Given the description of an element on the screen output the (x, y) to click on. 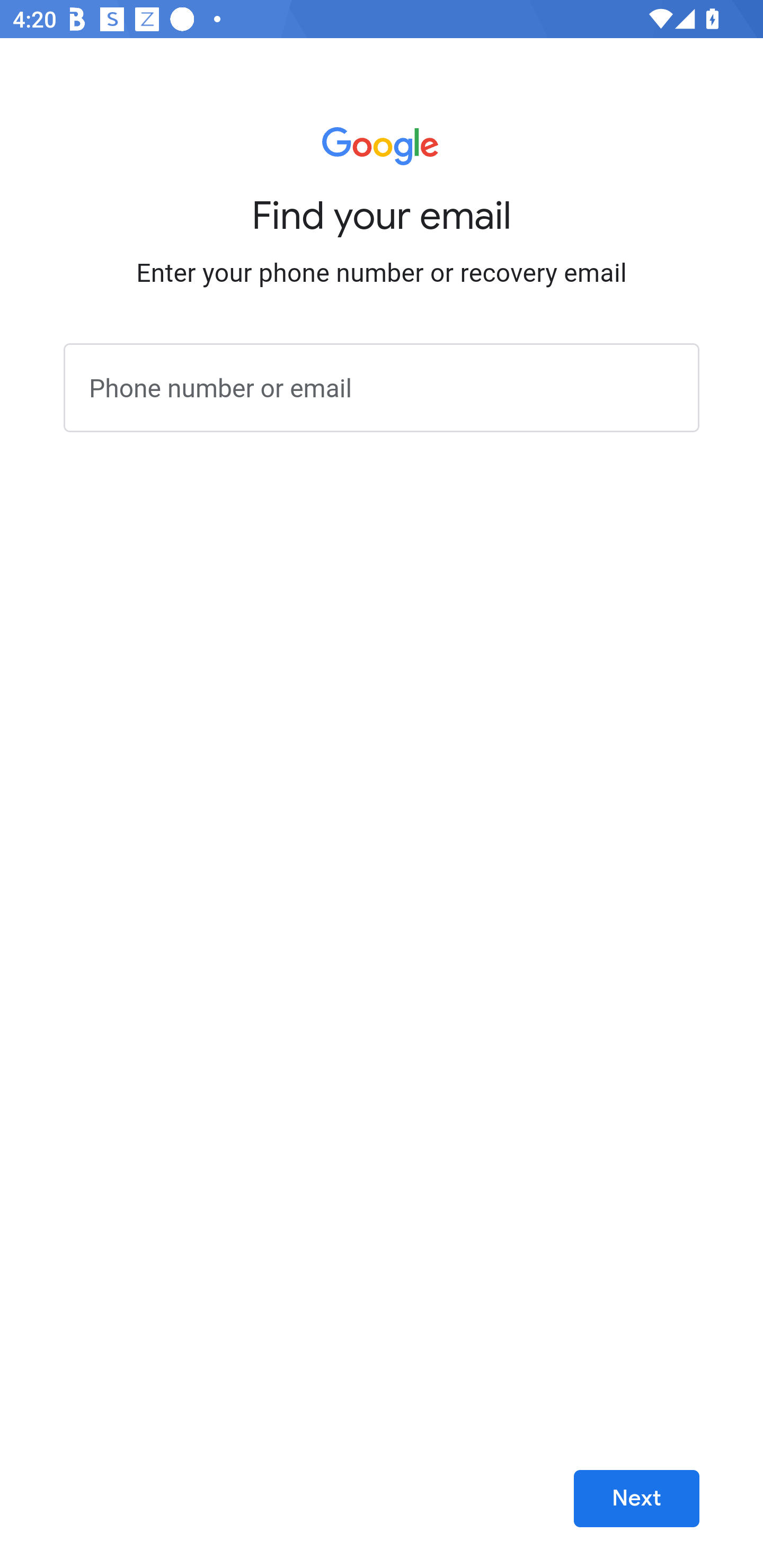
Next (635, 1498)
